Given the description of an element on the screen output the (x, y) to click on. 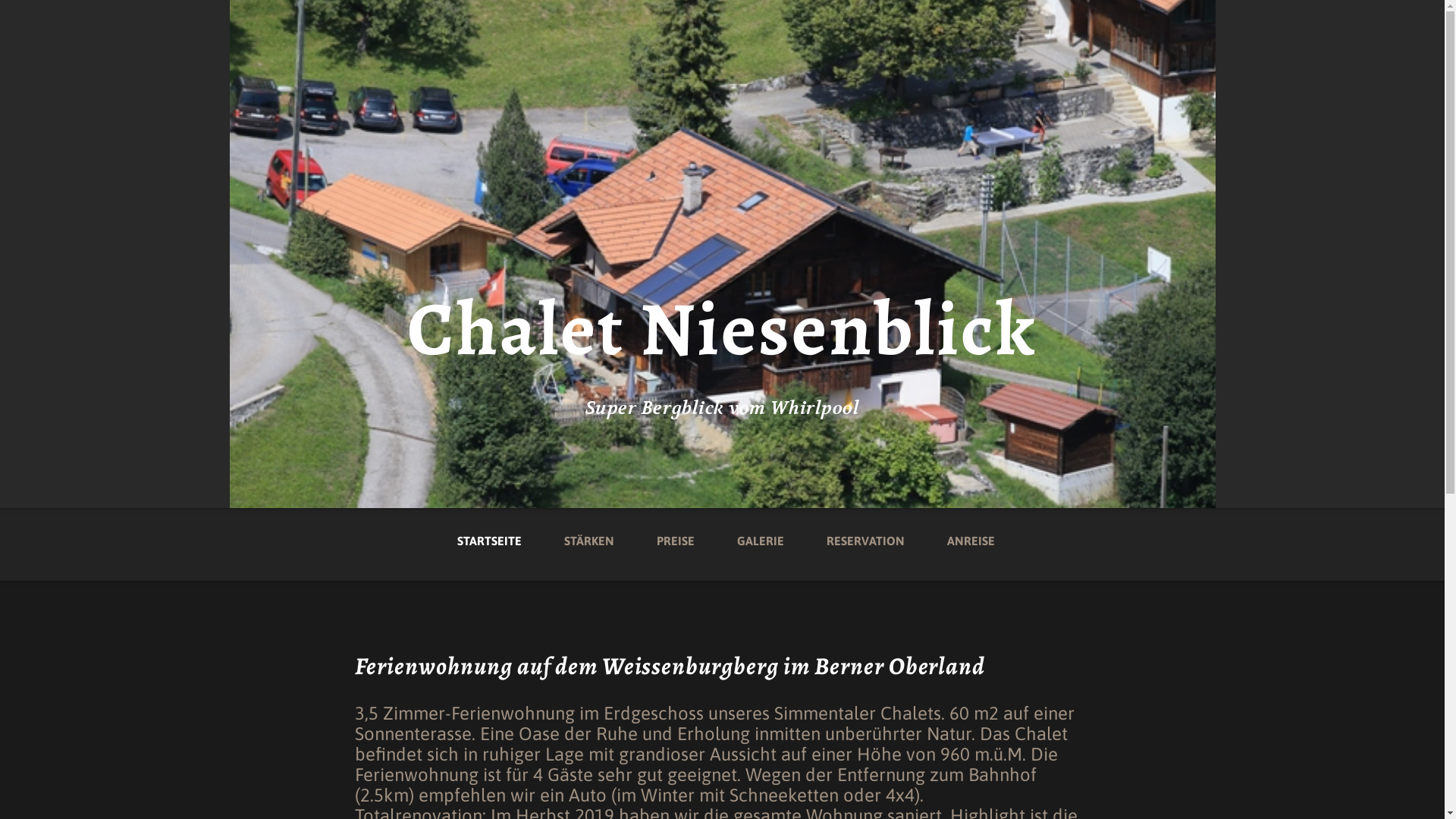
STARTSEITE Element type: text (489, 530)
GALERIE Element type: text (760, 530)
PREISE Element type: text (675, 530)
ANREISE Element type: text (970, 530)
RESERVATION Element type: text (865, 530)
